Given the description of an element on the screen output the (x, y) to click on. 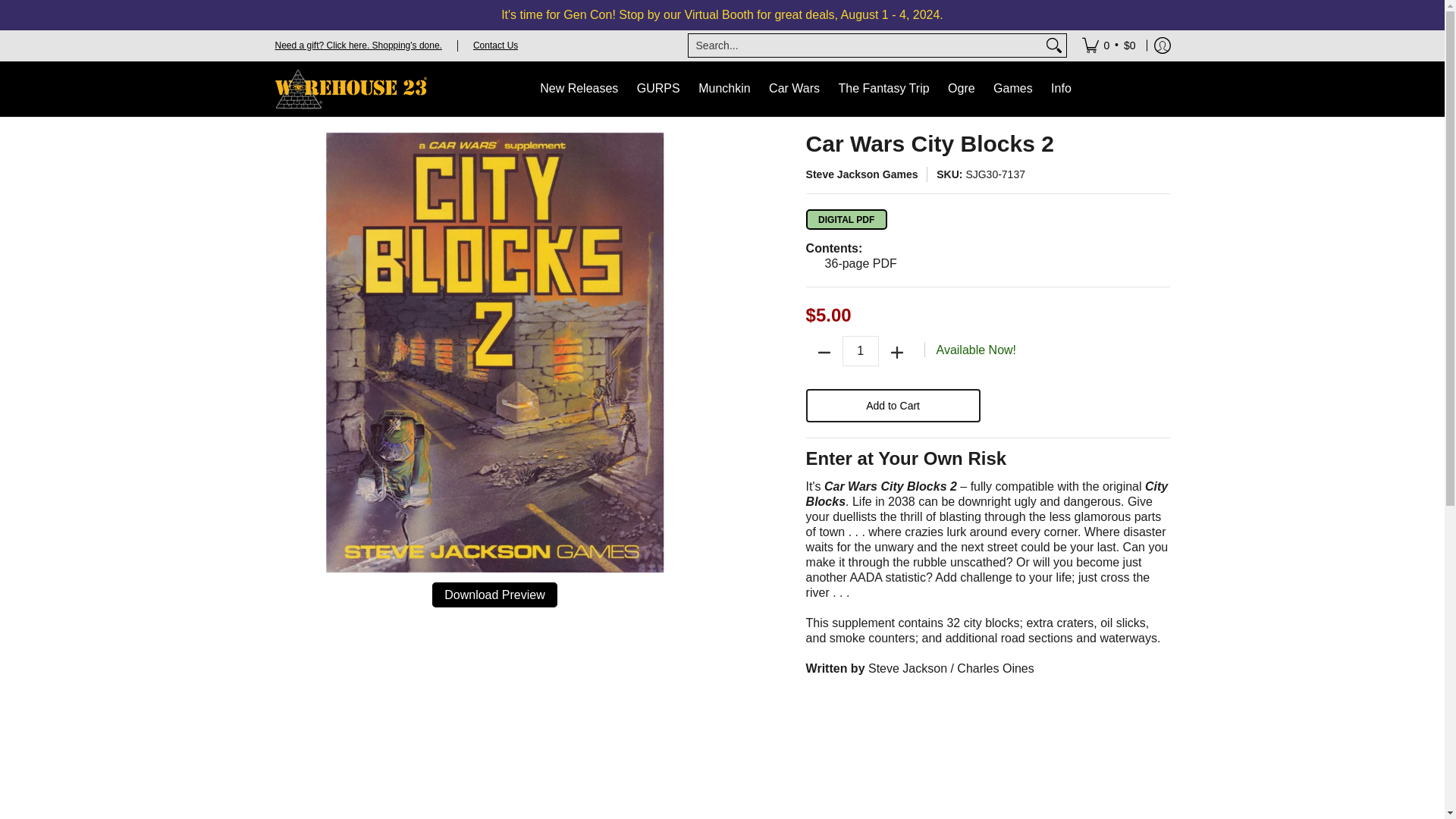
Games (1013, 89)
Games (1013, 89)
GURPS (657, 89)
Car Wars (794, 89)
Warehouse 23 Gift Certificate (358, 44)
Need a gift? Click here. Shopping's done. (358, 44)
1 (861, 350)
New Releases (579, 89)
New Releases (579, 89)
Car Wars (794, 89)
GURPS (657, 89)
Munchkin (723, 89)
Cart (1108, 45)
